Given the description of an element on the screen output the (x, y) to click on. 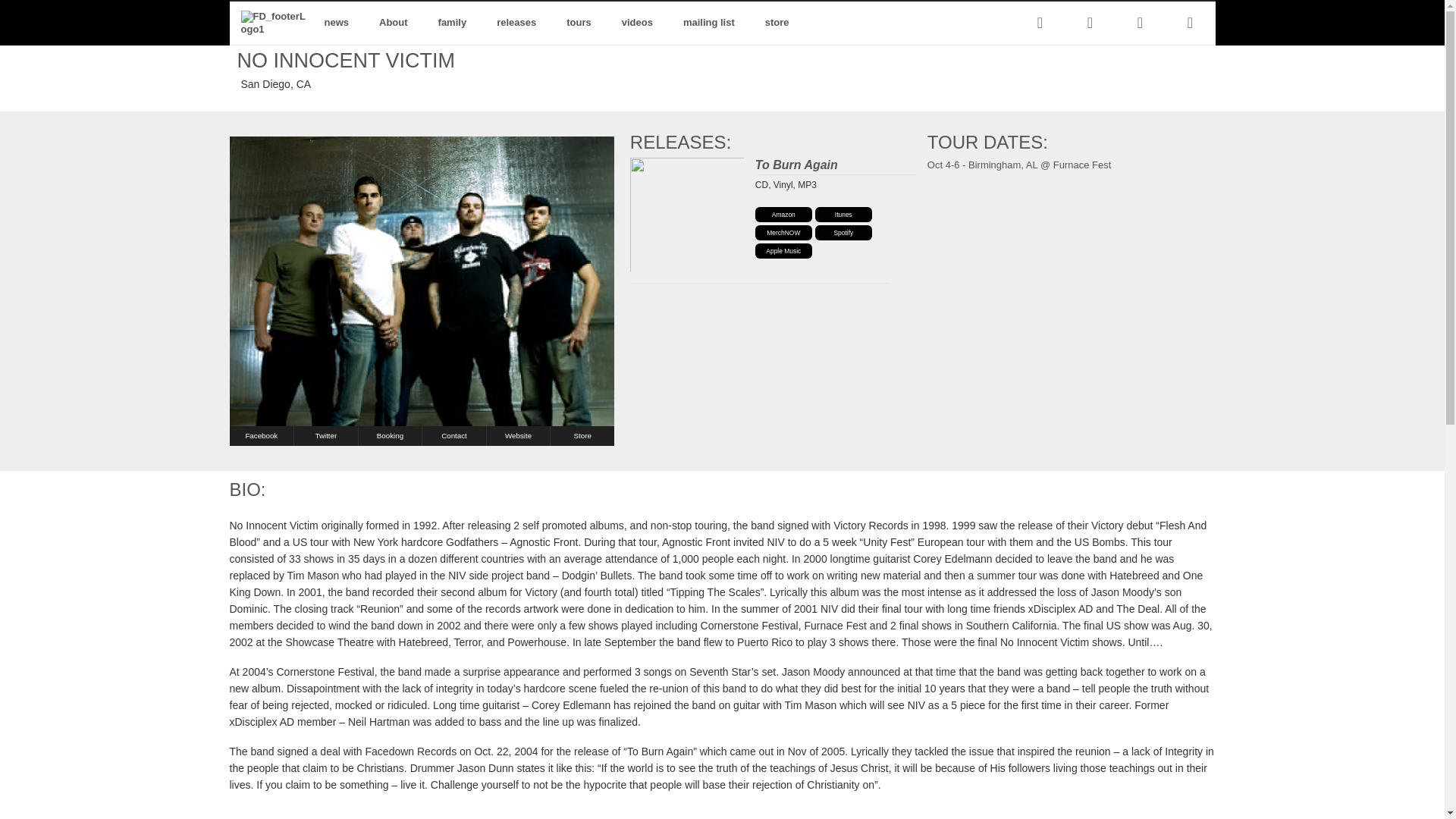
Twitter (326, 435)
Spotify (843, 232)
MerchNOW (783, 232)
news (336, 23)
Store (582, 435)
Contact (721, 22)
Booking (454, 435)
Website (390, 435)
Amazon (518, 435)
To Burn Again (783, 214)
Itunes (823, 165)
Apple Music (843, 214)
tours (783, 250)
mailing list (579, 23)
